Given the description of an element on the screen output the (x, y) to click on. 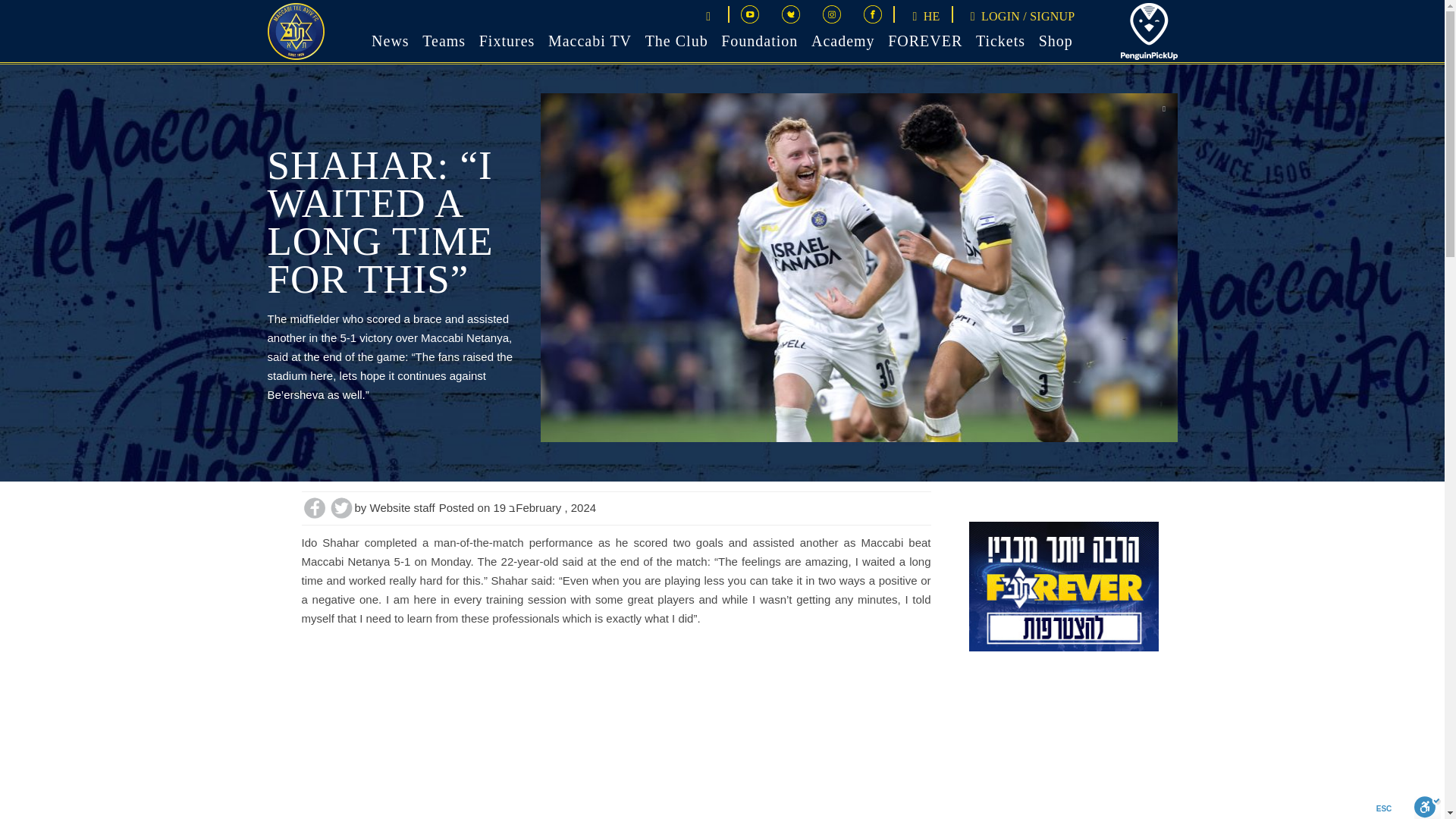
Fixtures (507, 39)
FOREVER (925, 39)
HE (922, 15)
Shop (1056, 39)
Teams (443, 39)
News (390, 39)
Maccabi TV (589, 39)
Academy (842, 39)
Tickets (1000, 39)
Foundation (758, 39)
The Club (676, 39)
